Given the description of an element on the screen output the (x, y) to click on. 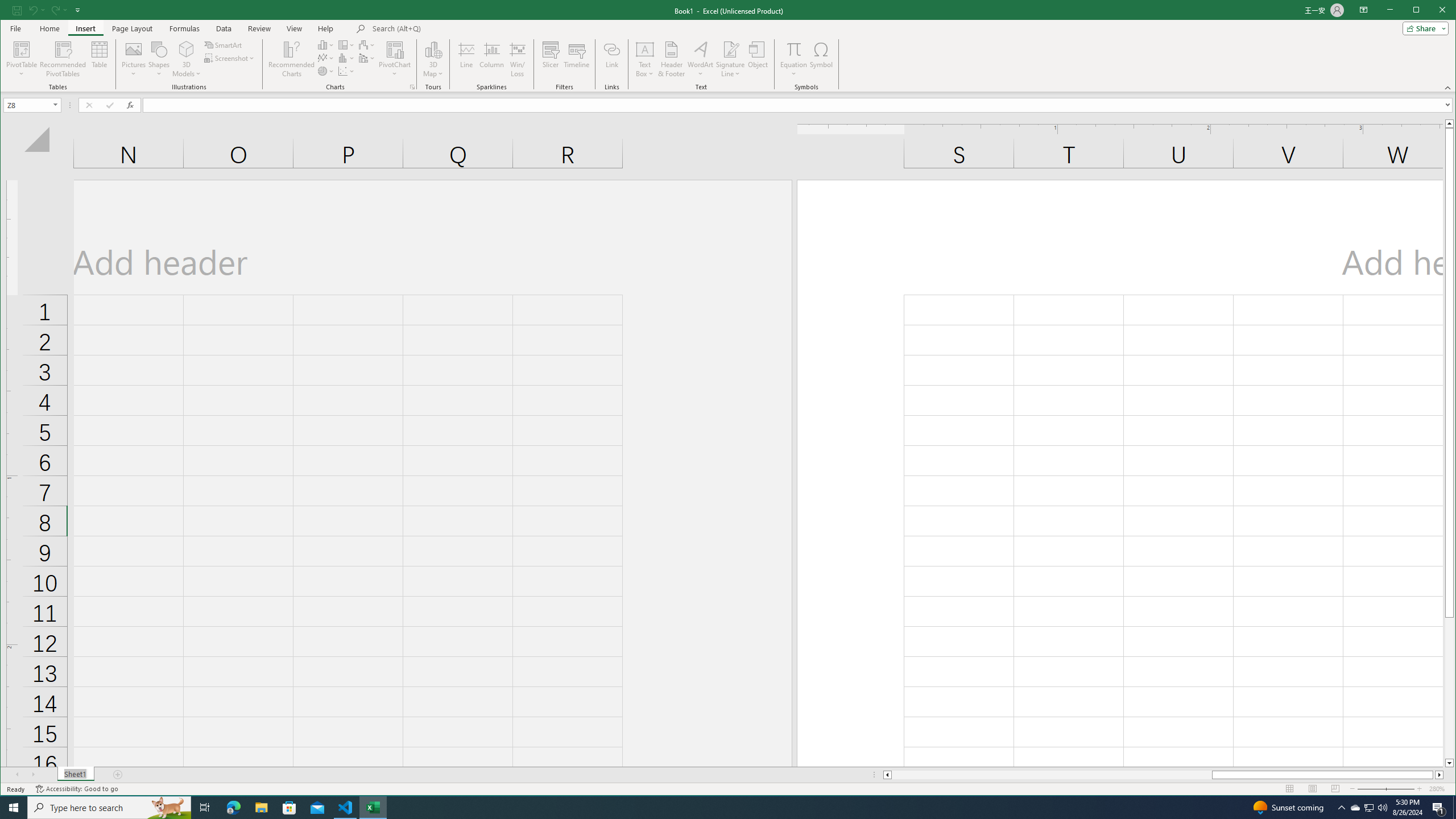
3D Map (432, 48)
Line (466, 59)
Slicer... (550, 59)
Win/Loss (517, 59)
Timeline (576, 59)
Q2790: 100% (1382, 807)
Show desktop (1454, 807)
Link (611, 59)
